Given the description of an element on the screen output the (x, y) to click on. 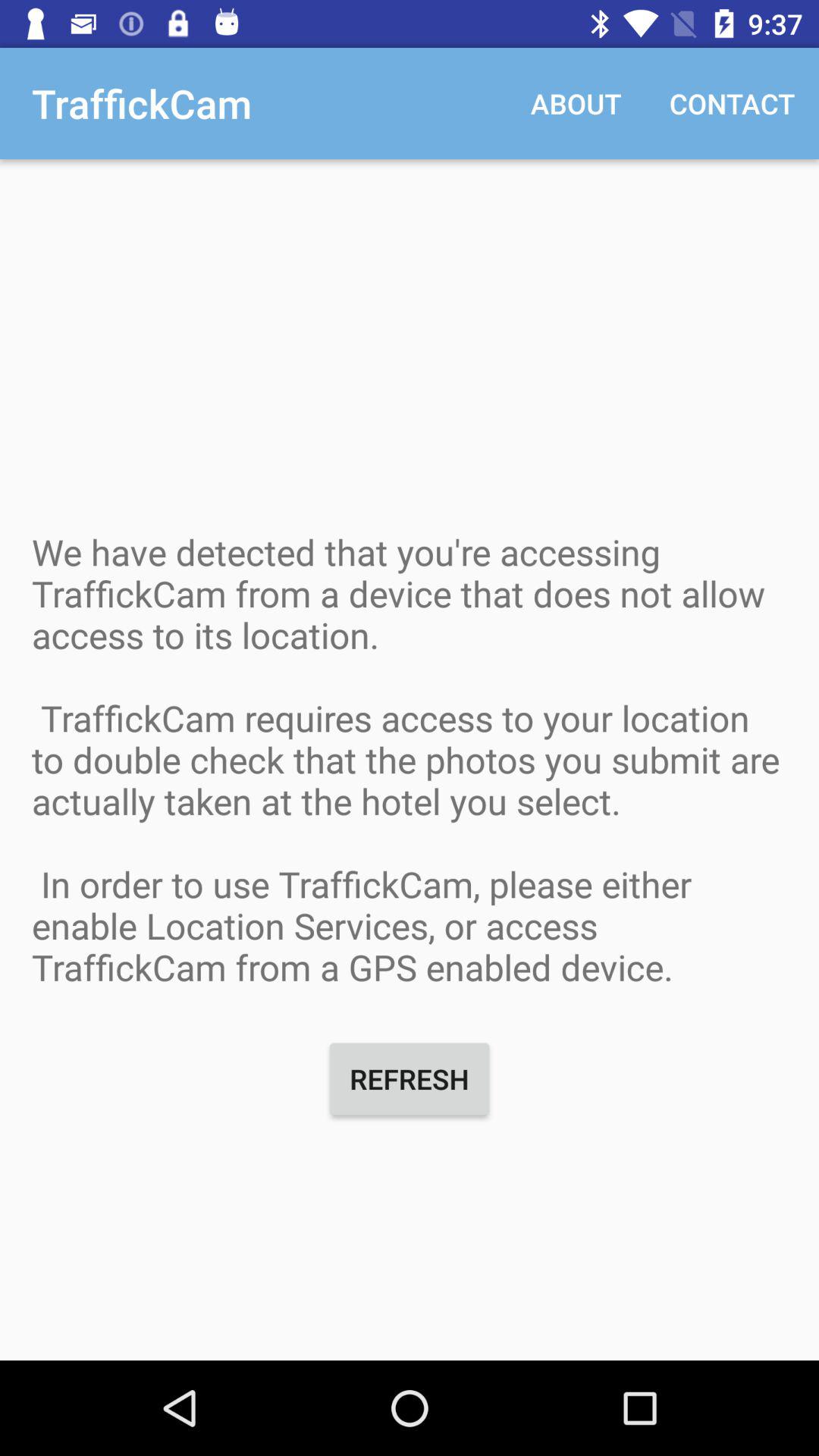
flip to the contact icon (732, 103)
